Given the description of an element on the screen output the (x, y) to click on. 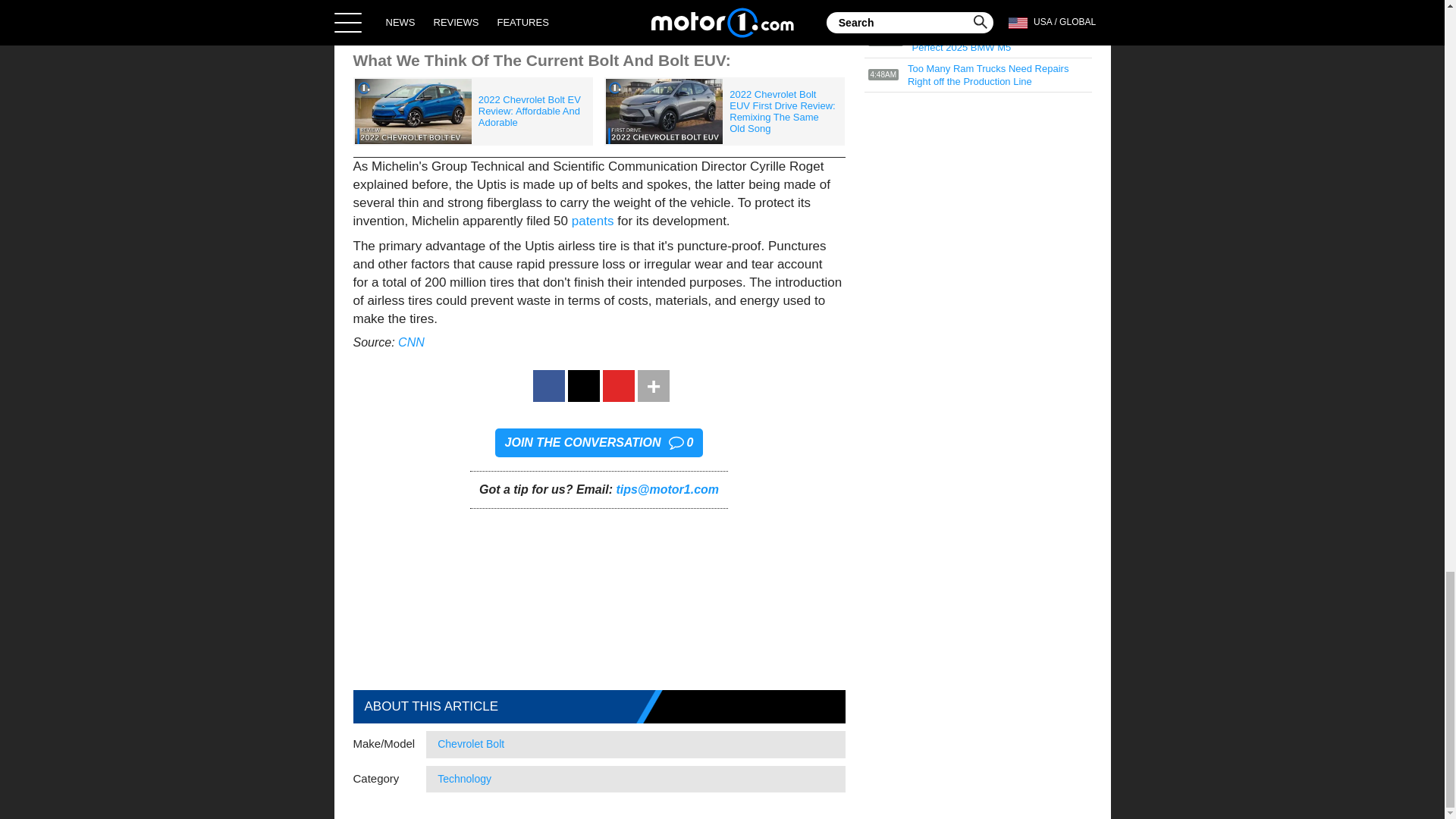
2022 Chevrolet Bolt EV Review: Affordable And Adorable (473, 111)
patents (593, 220)
